Given the description of an element on the screen output the (x, y) to click on. 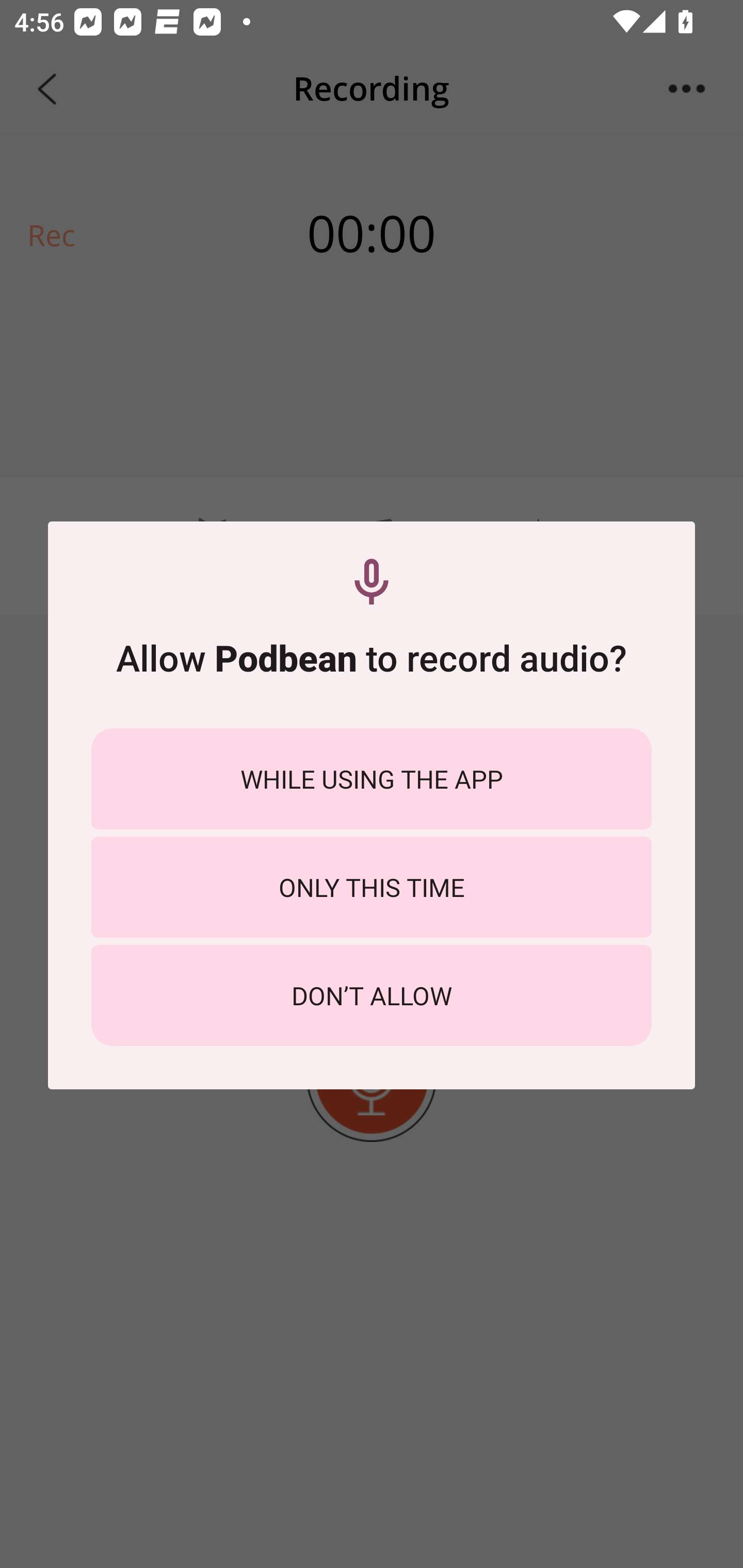
WHILE USING THE APP (371, 778)
ONLY THIS TIME (371, 887)
DON’T ALLOW (371, 995)
